Given the description of an element on the screen output the (x, y) to click on. 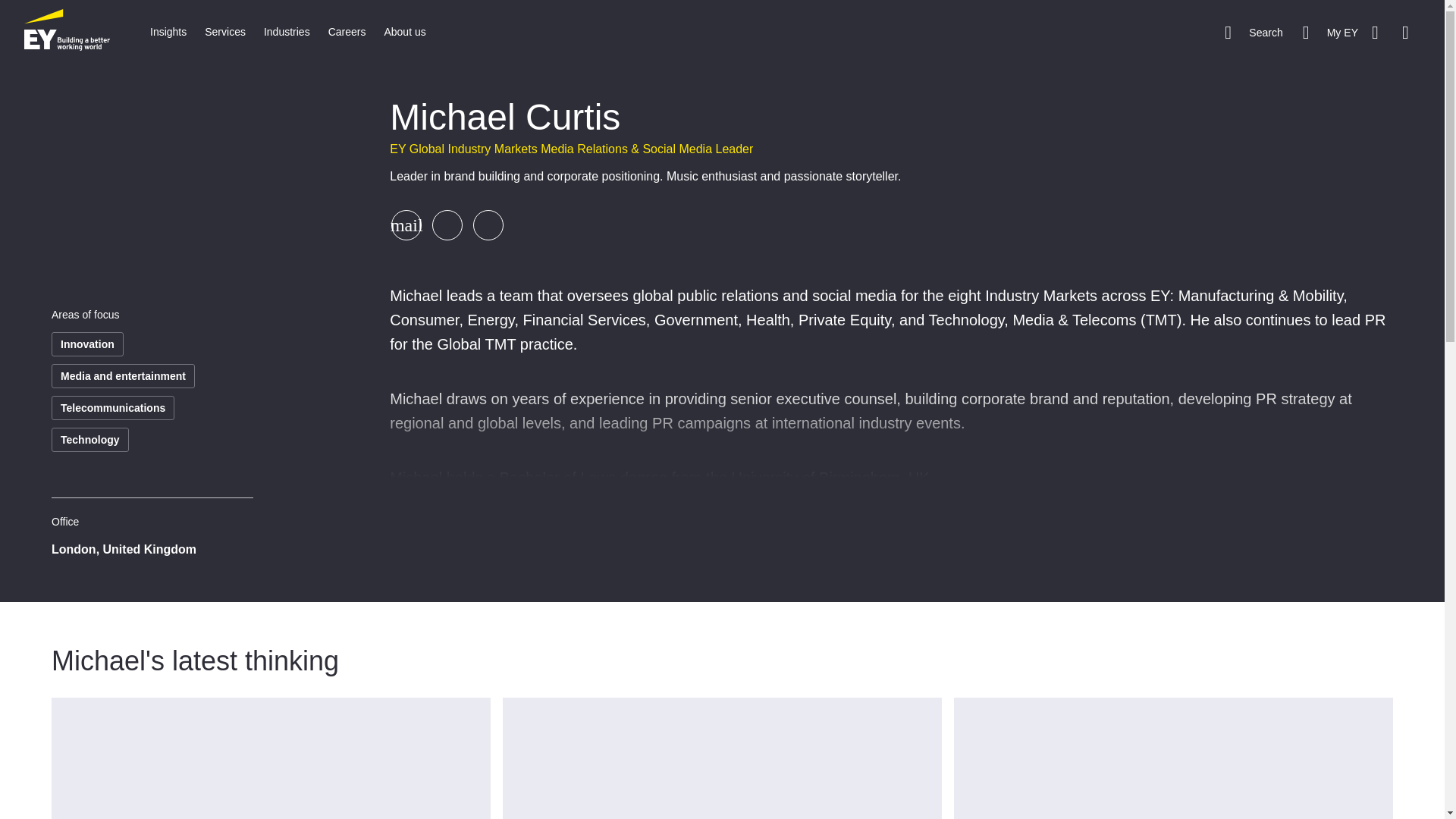
Send e-mail to Michael Curtis (406, 225)
My EY (1329, 32)
Open LinkedIn profile of Michael Curtis (488, 224)
EY Homepage (67, 32)
Open Twitter profile of Michael Curtis (447, 224)
EY Homepage (67, 32)
Open search (1253, 32)
